Given the description of an element on the screen output the (x, y) to click on. 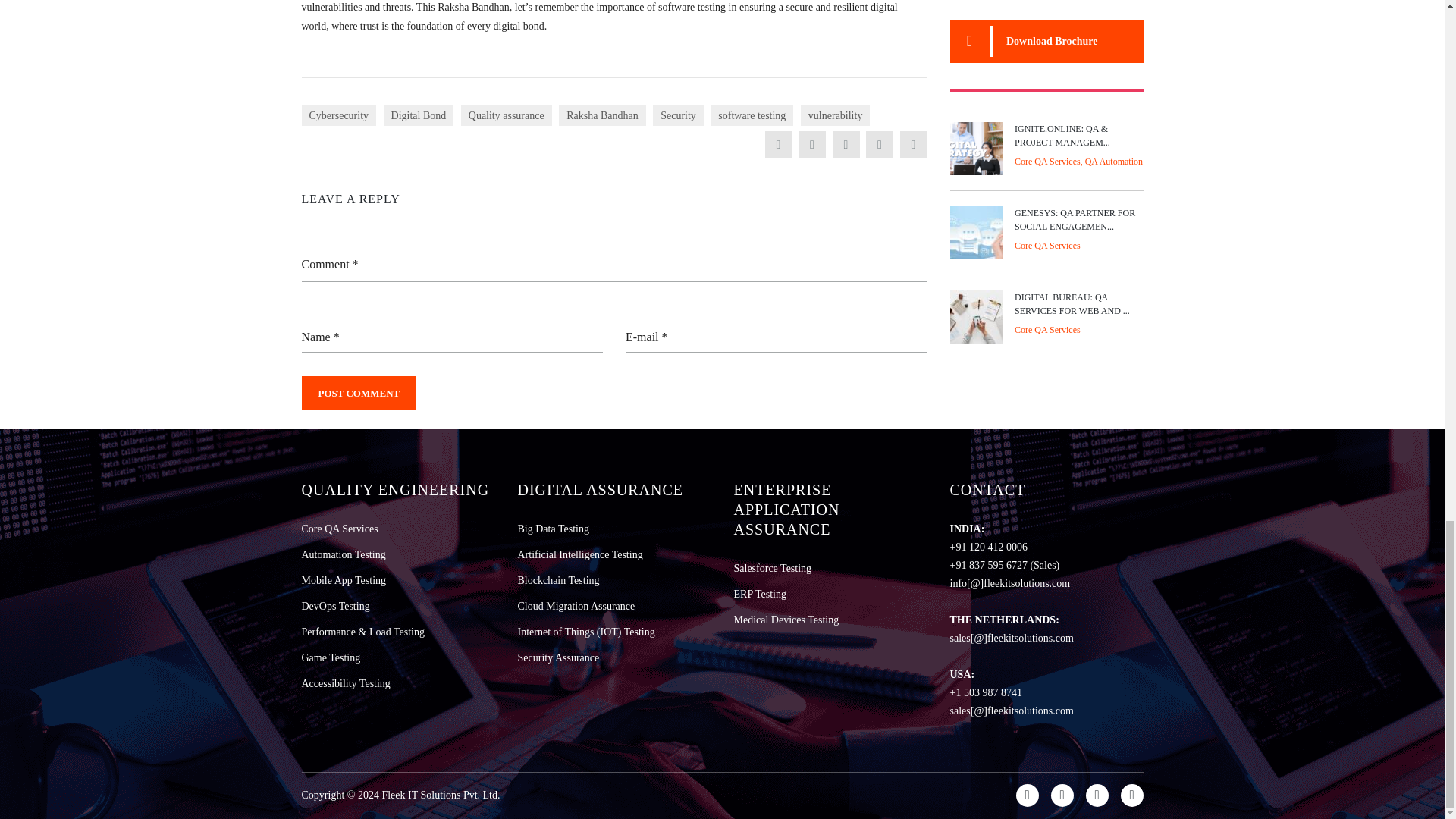
Quality assurance (506, 115)
Security (677, 115)
software testing (751, 115)
Quality assurance (506, 115)
Raksha Bandhan (602, 115)
vulnerability (835, 115)
Security (677, 115)
Raksha Bandhan (602, 115)
Cybersecurity (339, 115)
Digital Bond (419, 115)
Cybersecurity (339, 115)
Digital Bond (419, 115)
